Given the description of an element on the screen output the (x, y) to click on. 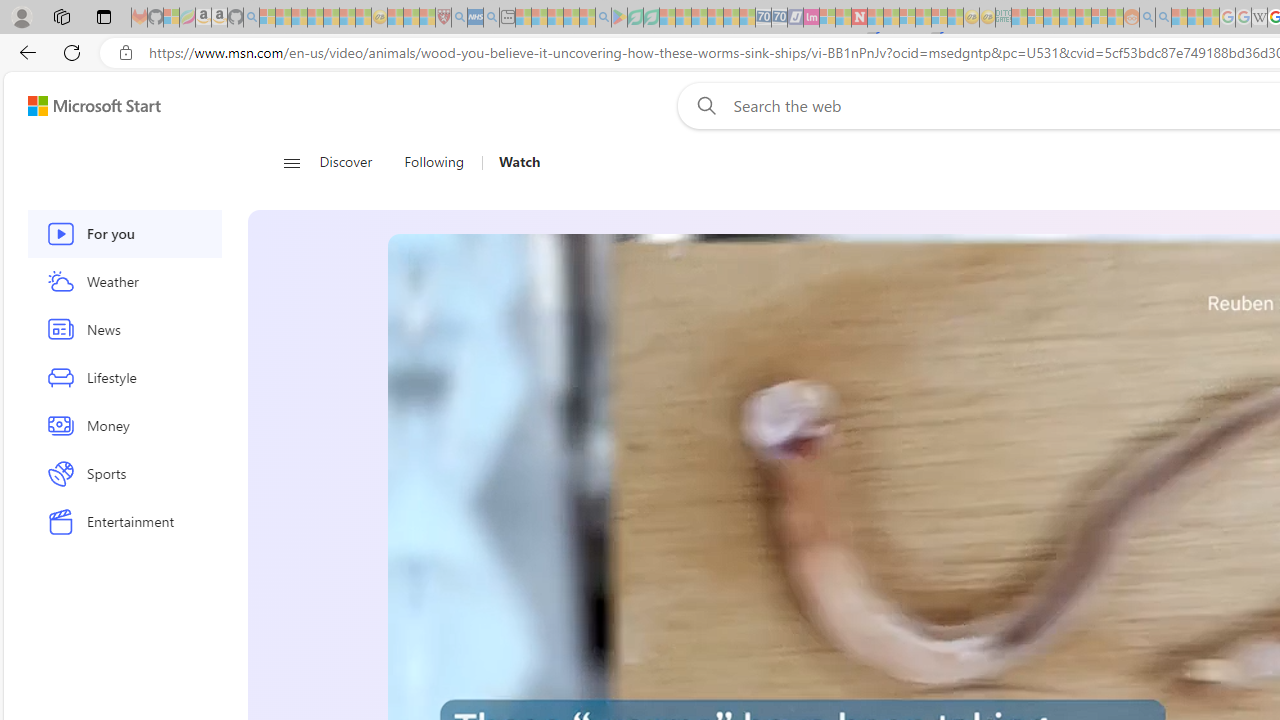
Kinda Frugal - MSN - Sleeping (1083, 17)
Expert Portfolios - Sleeping (1067, 17)
DITOGAMES AG Imprint - Sleeping (1003, 17)
Watch (519, 162)
Terms of Use Agreement - Sleeping (635, 17)
MSNBC - MSN - Sleeping (1019, 17)
Skip to footer (82, 105)
